Given the description of an element on the screen output the (x, y) to click on. 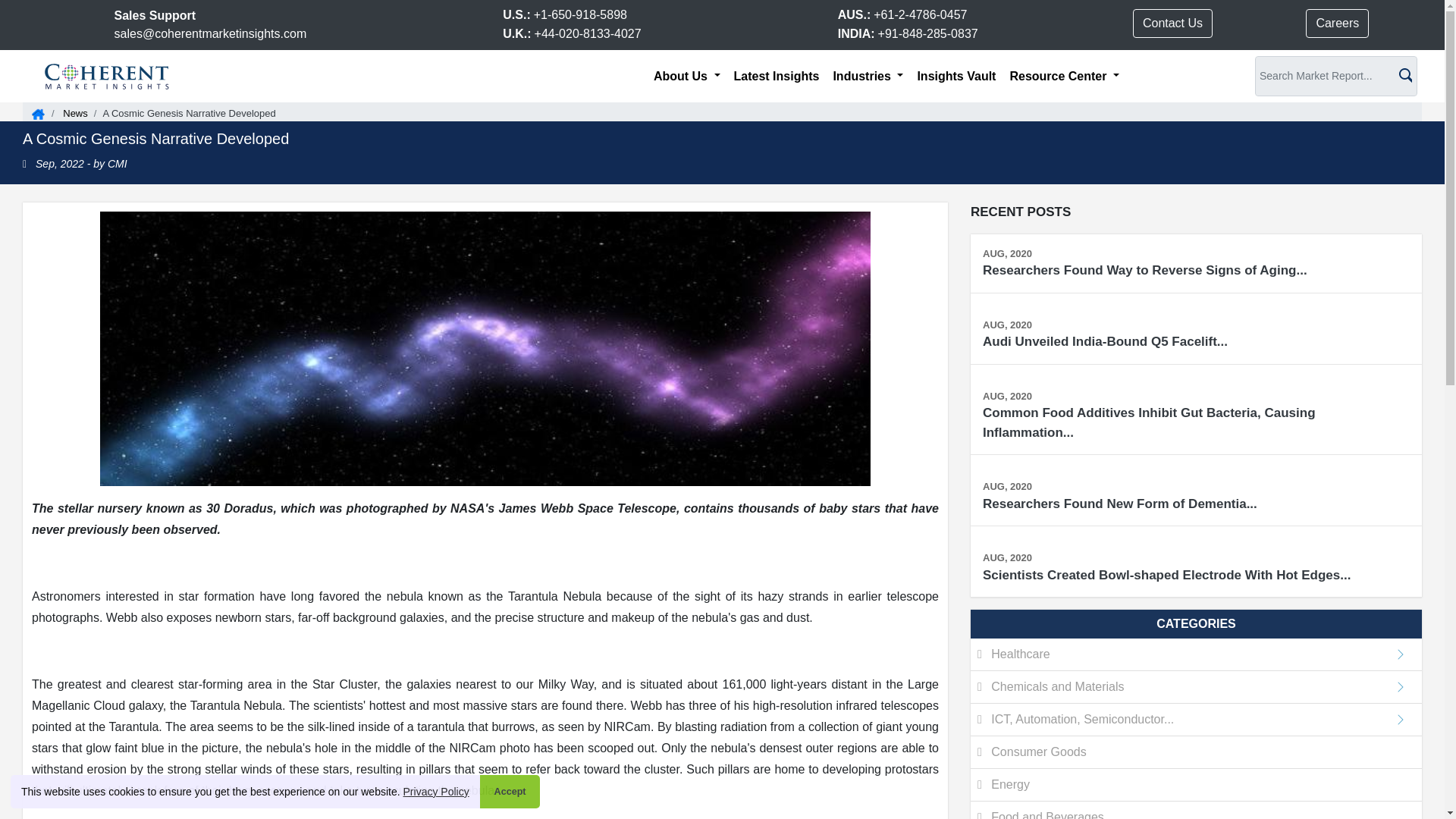
Latest Insights (776, 75)
CMI Logo (106, 75)
Accept (510, 791)
Careers (1337, 23)
Contact Us (1172, 23)
About Us (686, 75)
Blogs (74, 112)
Industries (867, 75)
Healthcare (1196, 654)
Privacy Policy (435, 791)
